Given the description of an element on the screen output the (x, y) to click on. 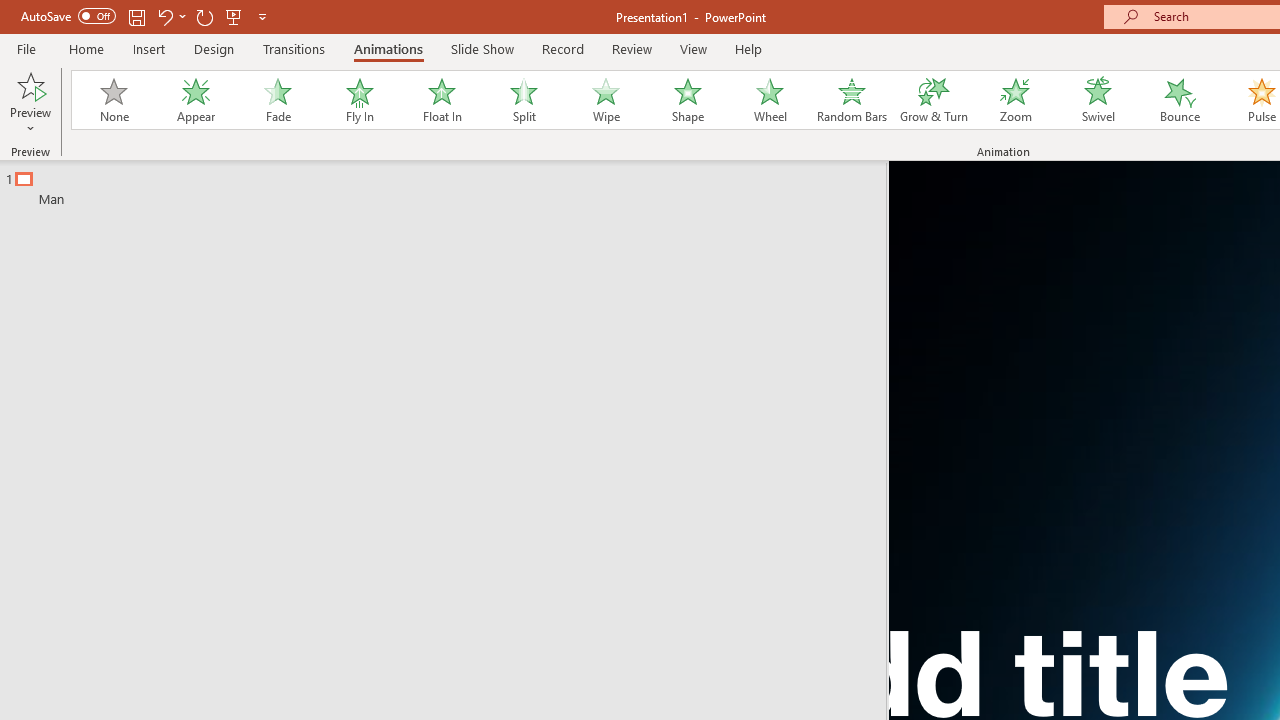
Float In (441, 100)
Wheel (770, 100)
None (113, 100)
Fly In (359, 100)
